Given the description of an element on the screen output the (x, y) to click on. 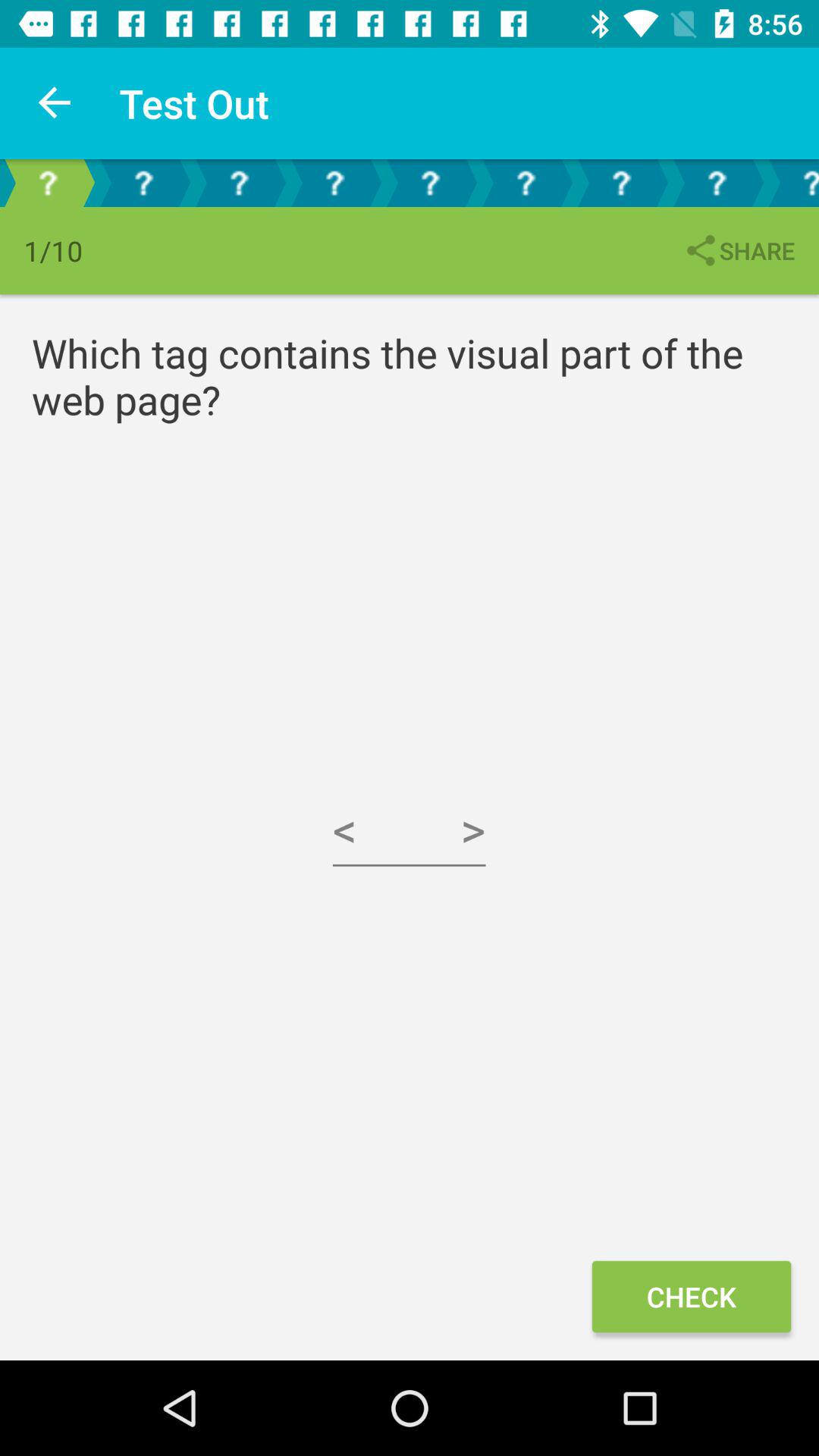
first section (47, 183)
